Given the description of an element on the screen output the (x, y) to click on. 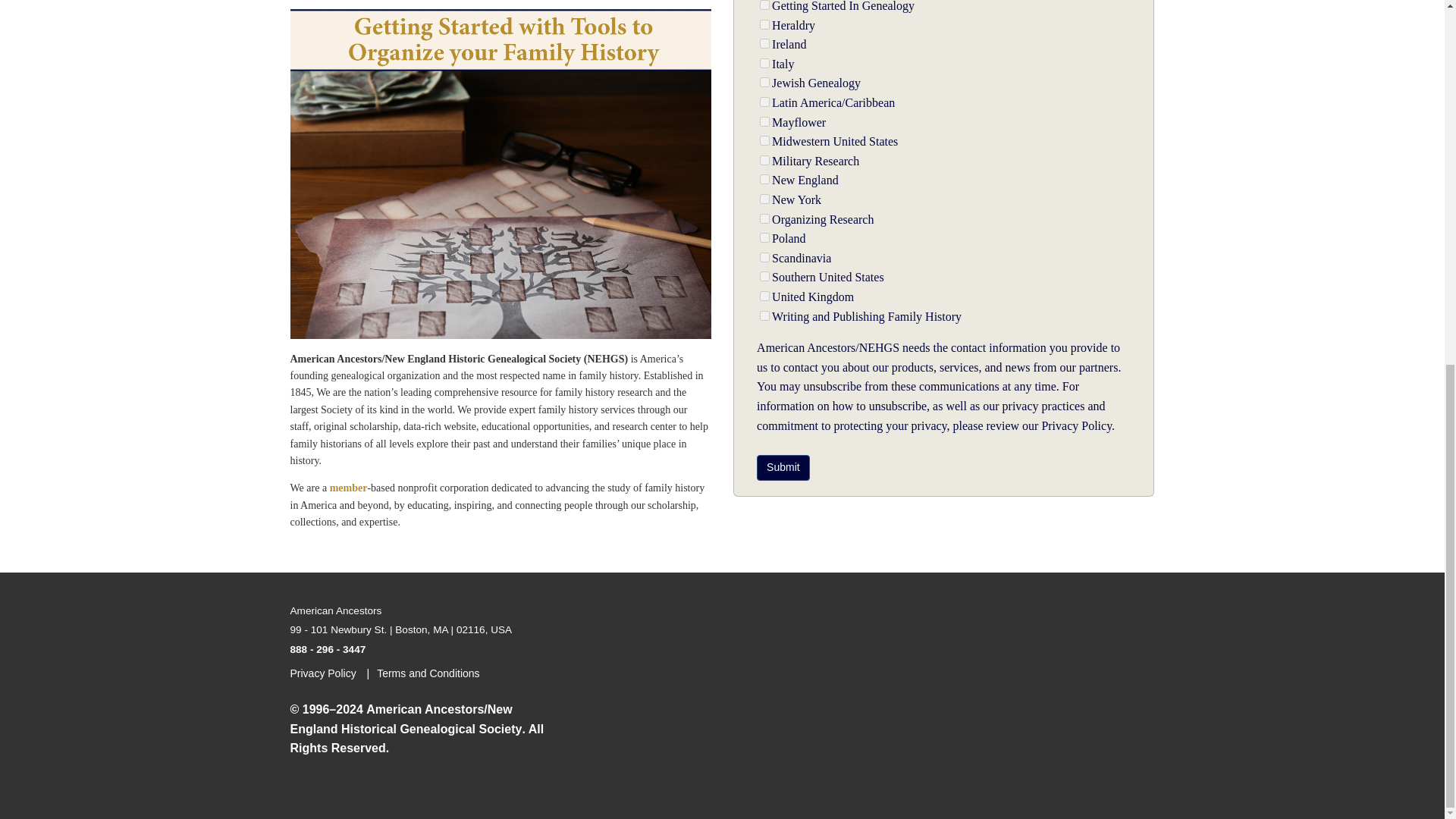
Submit (783, 467)
Heraldry (765, 24)
Midwestern United States (765, 140)
Early New England (765, 179)
Mayflower (765, 121)
New York (765, 198)
member (349, 487)
Jewish Genealogy (765, 81)
Terms and Conditions (436, 673)
Irish (765, 43)
Military Research (765, 160)
Getting Started In Genealogy (765, 4)
member (349, 487)
Privacy Policy (333, 673)
